Given the description of an element on the screen output the (x, y) to click on. 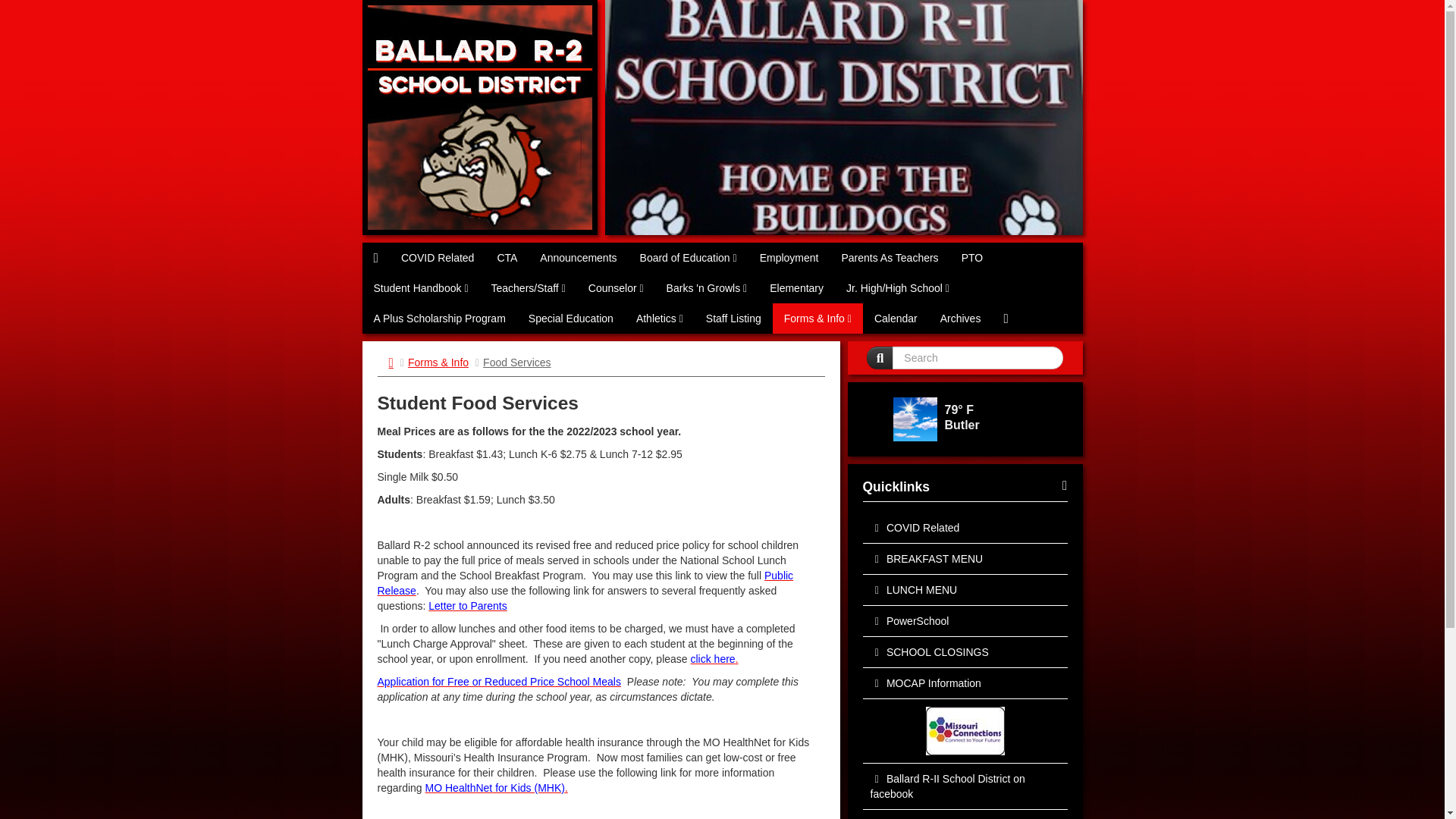
Career Resources (964, 731)
Student Handbook (421, 287)
BREAKFAST MENU (964, 558)
Website Accessibility (964, 814)
Front Page Link (376, 257)
Ballard R-II School District (479, 117)
LUNCH MENU (964, 590)
Employment (788, 257)
Parents As Teachers (889, 257)
CTA (506, 257)
Sign In (1005, 318)
Power School Student Information System (964, 621)
Front Page (376, 257)
COVID Related (437, 257)
Announcements (577, 257)
